Given the description of an element on the screen output the (x, y) to click on. 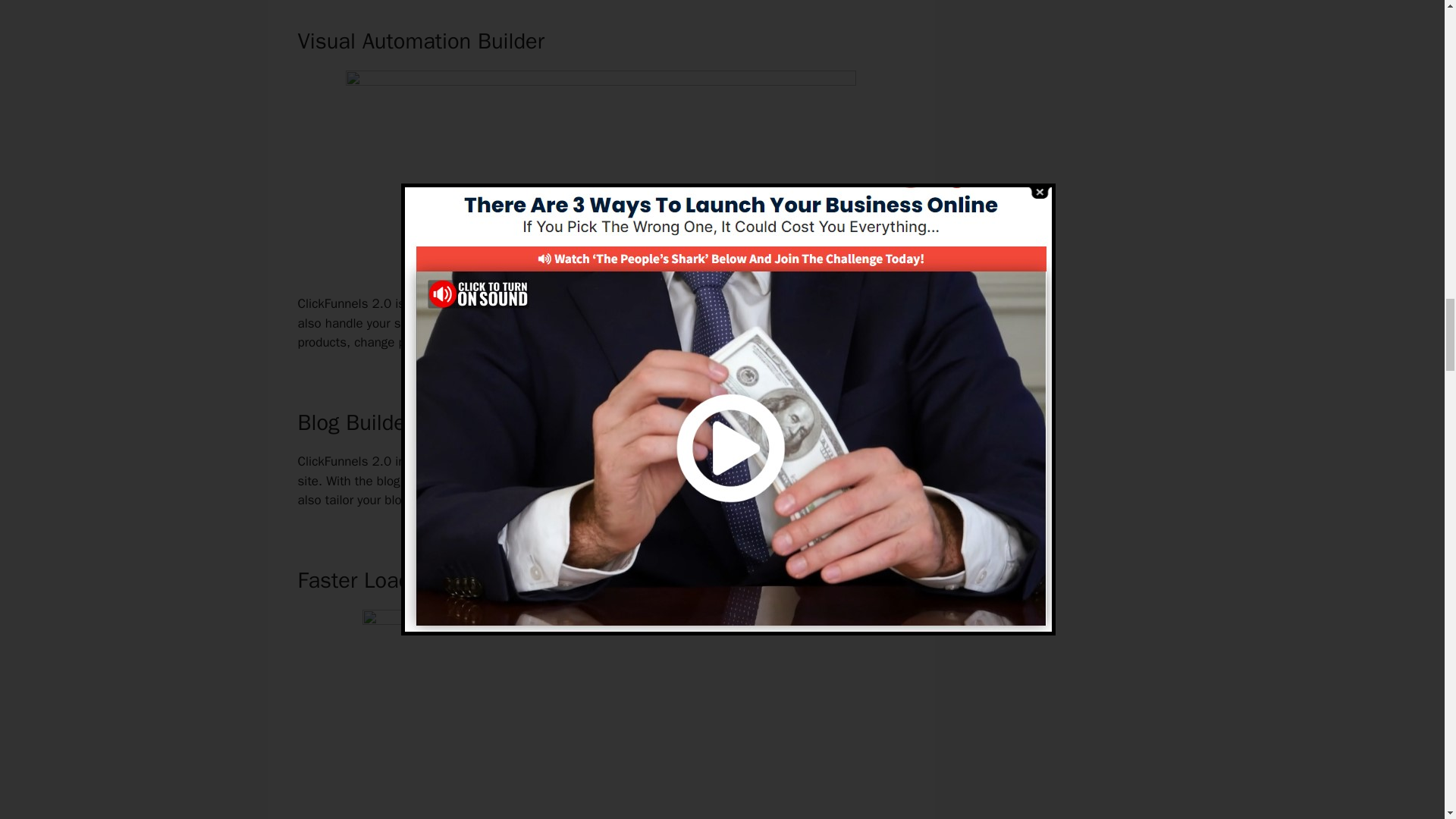
Begin Here For Free Now (600, 251)
